Given the description of an element on the screen output the (x, y) to click on. 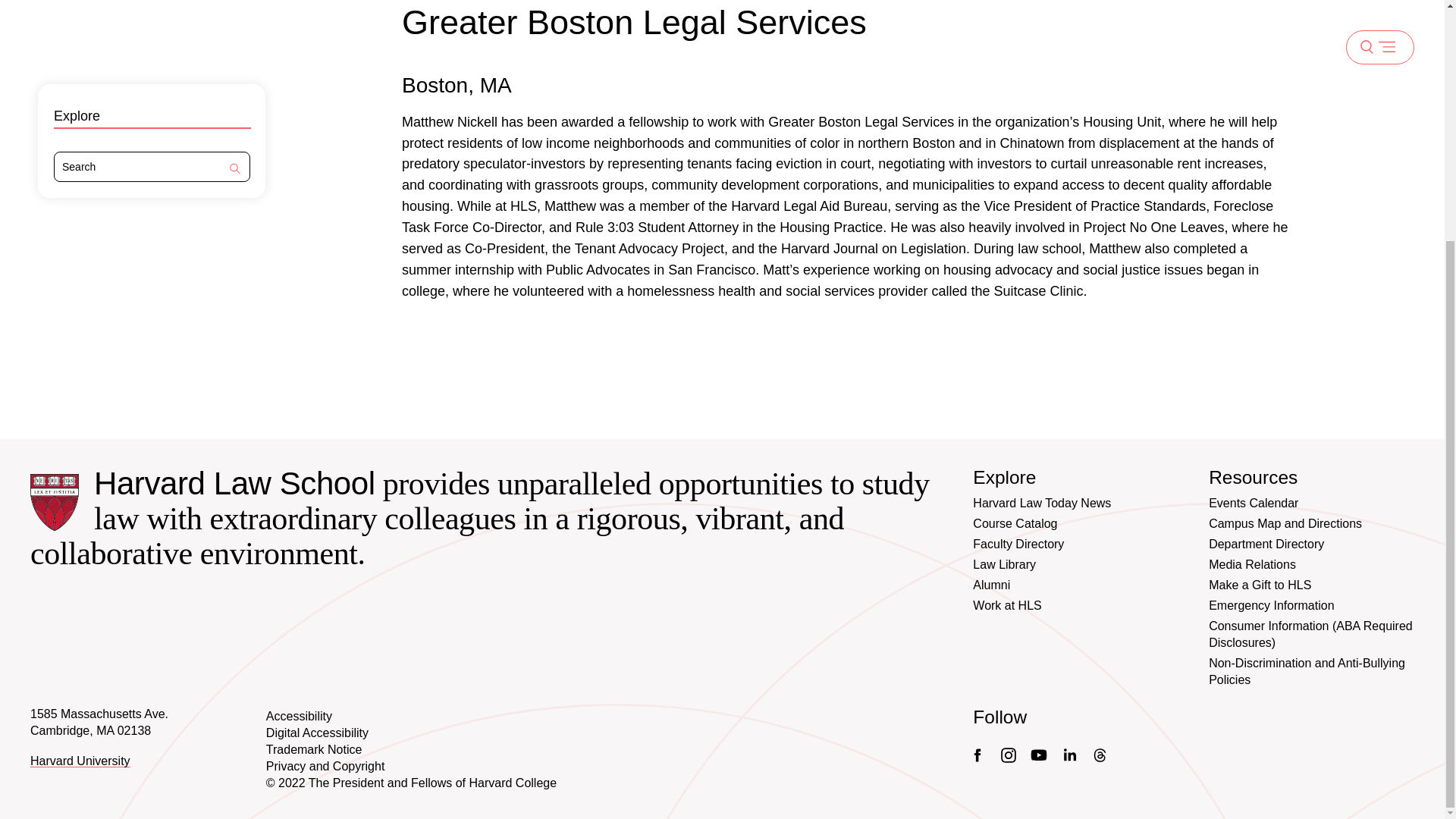
Search (235, 169)
